Given the description of an element on the screen output the (x, y) to click on. 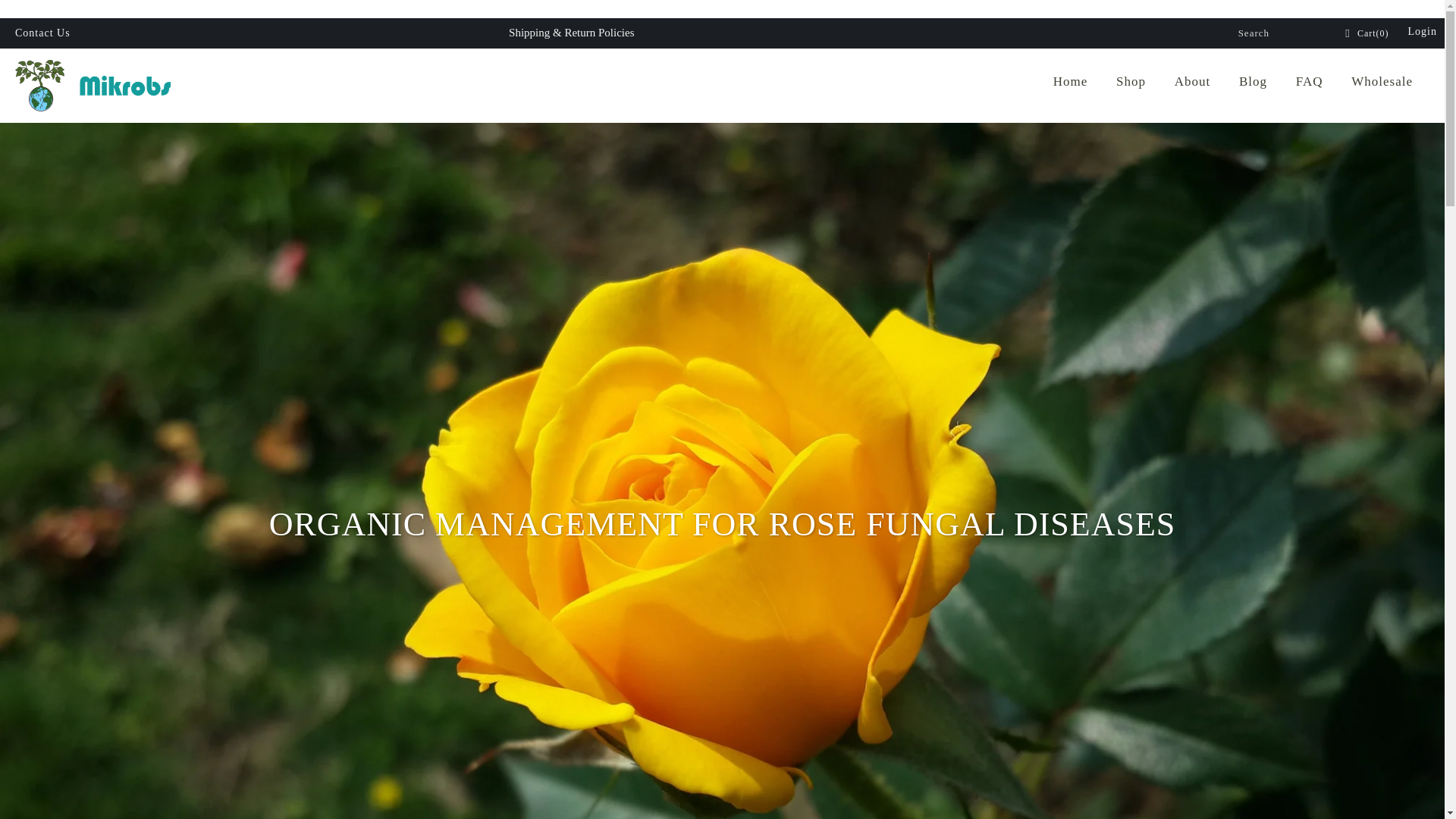
FAQ (1309, 81)
Login (1422, 31)
Blog (1253, 81)
Shop (1130, 81)
Contact Us (41, 33)
Wholesale (1382, 81)
Microbial Applications, Inc (122, 85)
Home (1070, 81)
About (1193, 81)
